Given the description of an element on the screen output the (x, y) to click on. 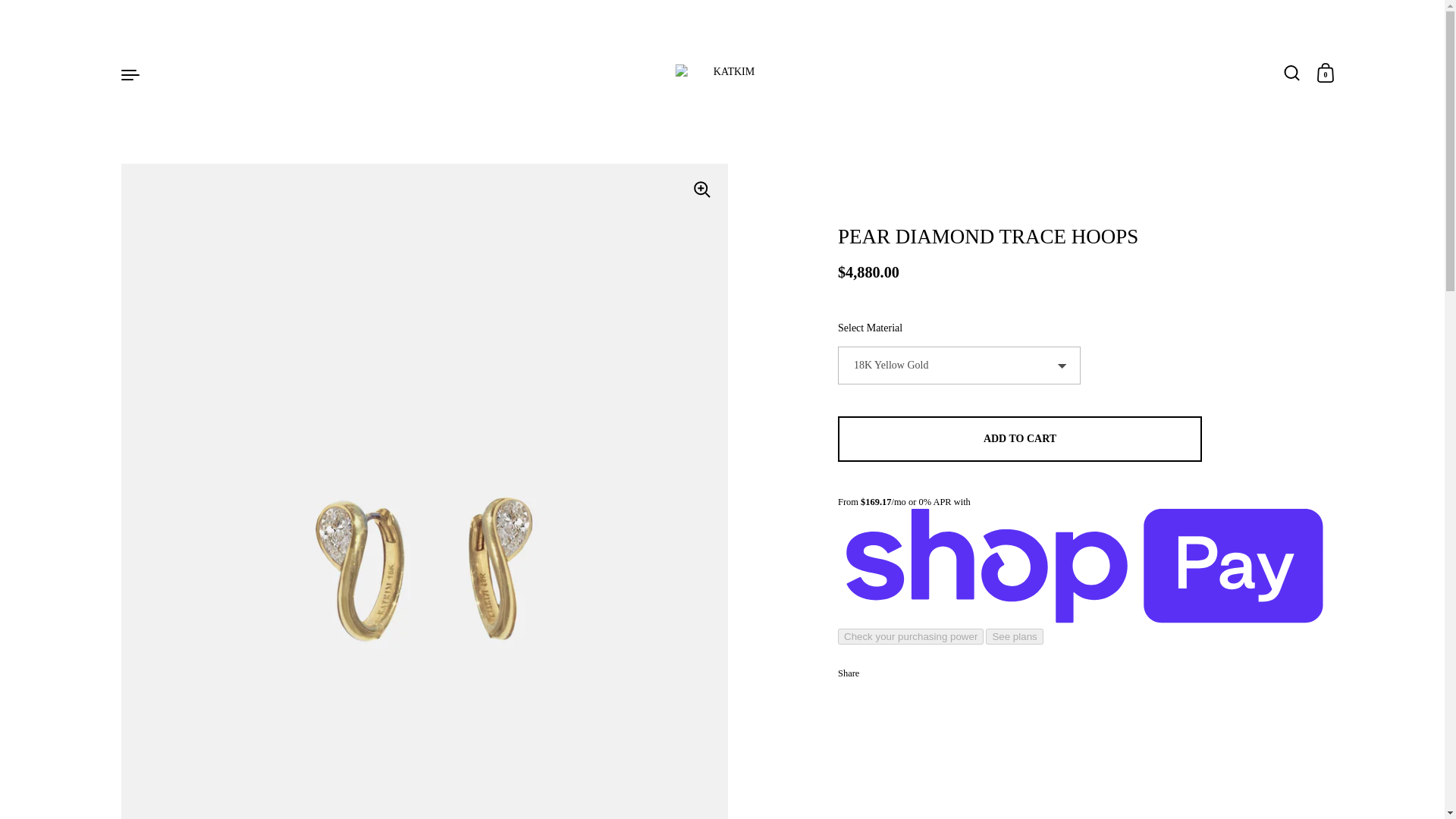
0 (1325, 73)
KATKIM (727, 73)
